Given the description of an element on the screen output the (x, y) to click on. 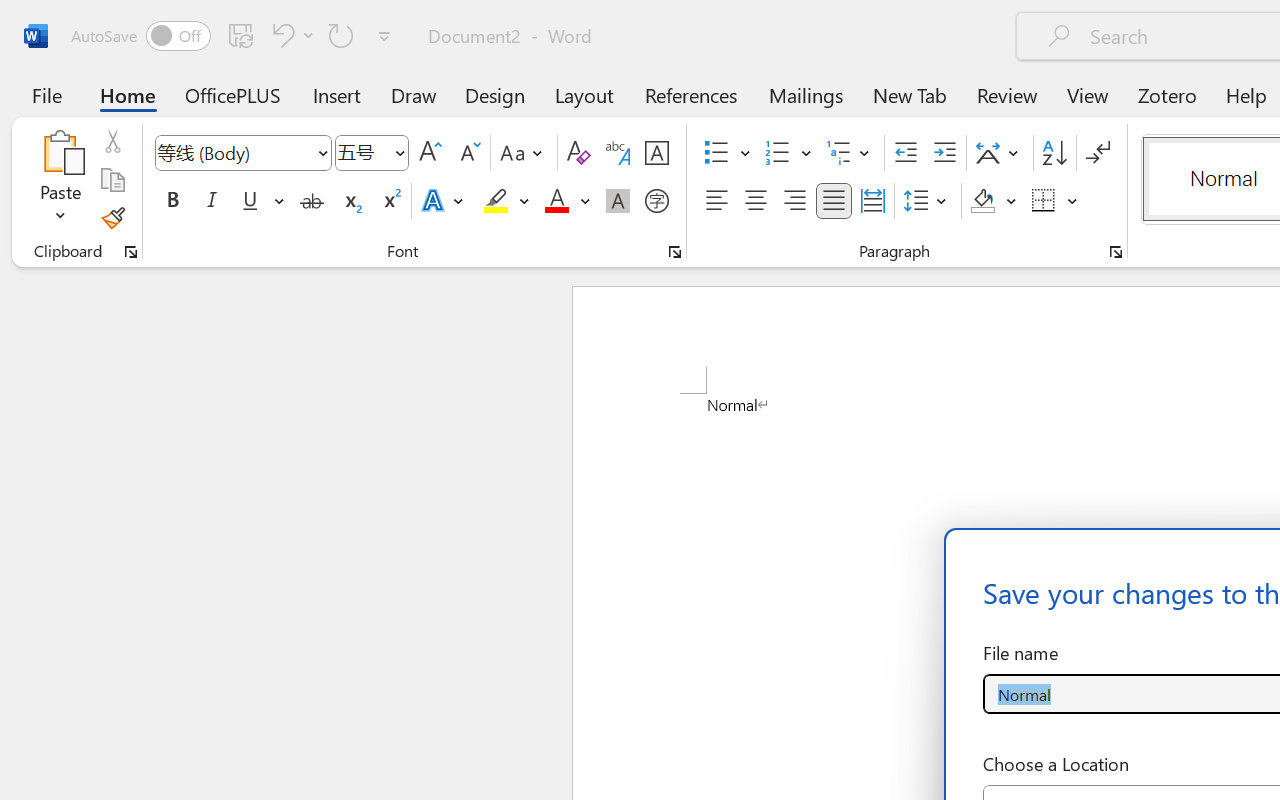
Zotero (1166, 94)
Superscript (390, 201)
Character Border (656, 153)
Text Effects and Typography (444, 201)
Distributed (872, 201)
Justify (834, 201)
Align Right (794, 201)
Multilevel List (850, 153)
Strikethrough (312, 201)
Shading RGB(0, 0, 0) (982, 201)
Show/Hide Editing Marks (1098, 153)
Paste (60, 151)
New Tab (909, 94)
Font Size (362, 152)
